Given the description of an element on the screen output the (x, y) to click on. 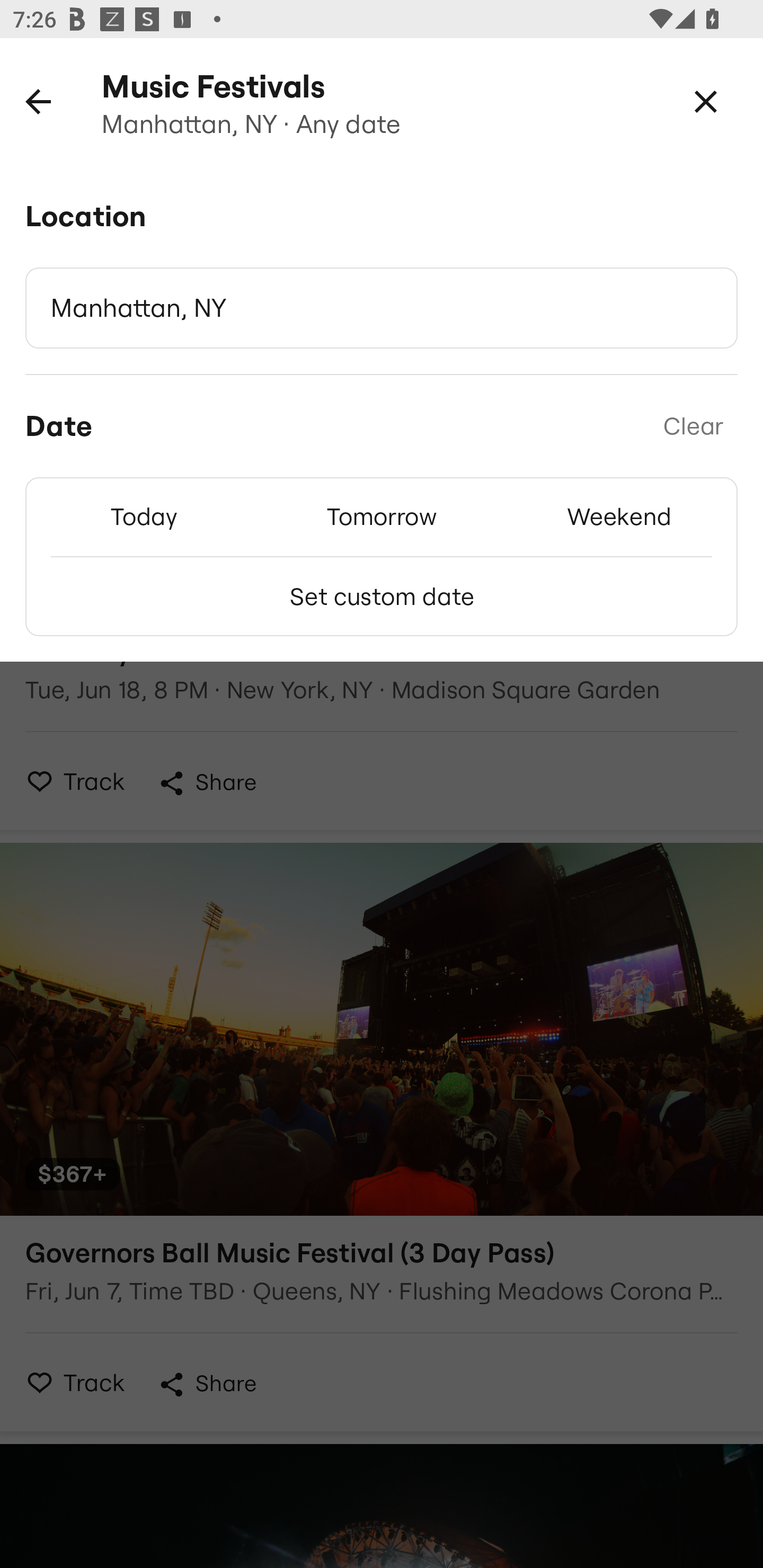
Back (38, 100)
Close (705, 100)
Manhattan, NY (381, 308)
Clear (693, 426)
Today (143, 516)
Tomorrow (381, 516)
Weekend (618, 516)
Set custom date (381, 596)
